Given the description of an element on the screen output the (x, y) to click on. 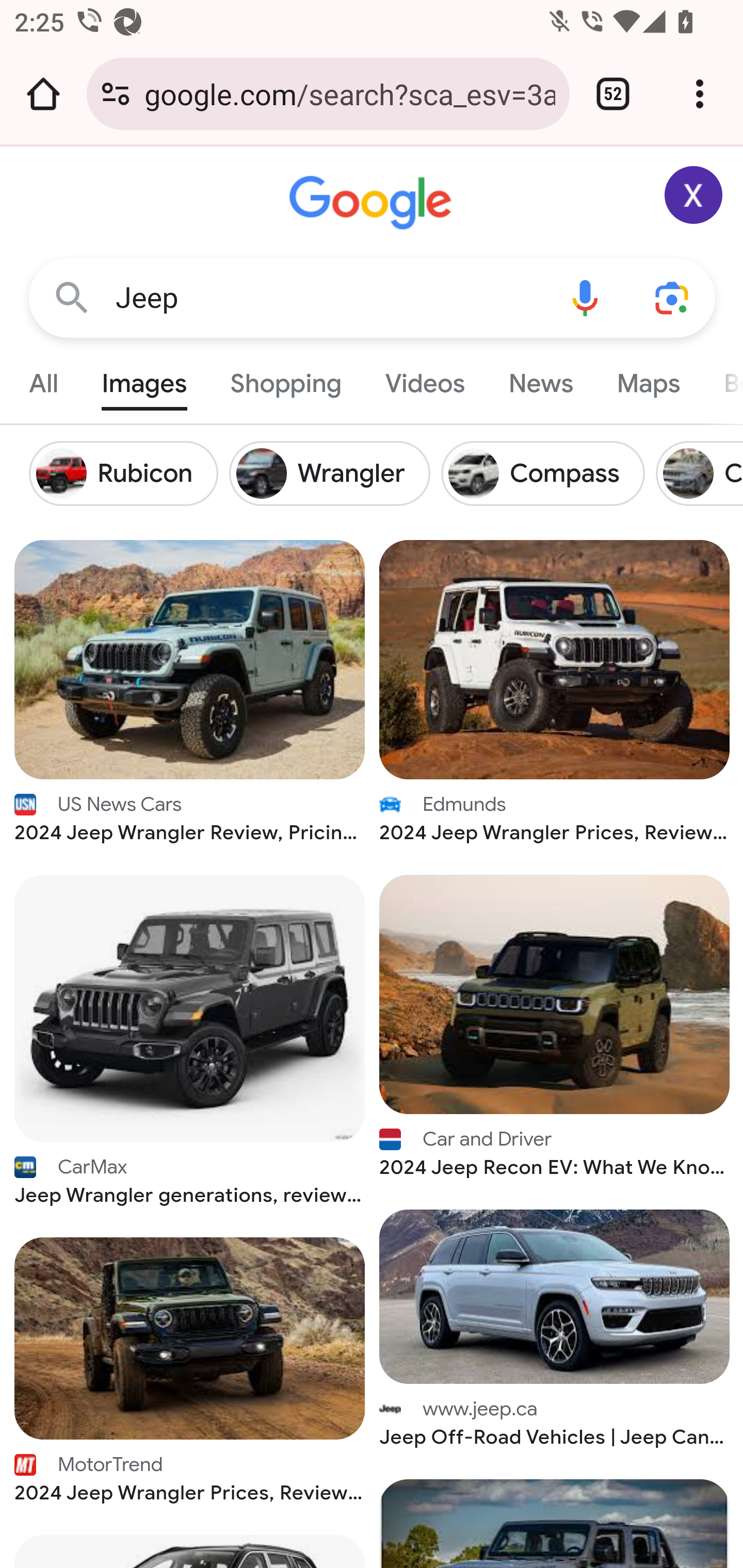
Open the home page (43, 93)
Connection is secure (115, 93)
Switch or close tabs (612, 93)
Customize and control Google Chrome (699, 93)
Google (372, 203)
Google Account: Xiaoran (zxrappiumtest@gmail.com) (694, 195)
Google Search (71, 296)
Search using your camera or photos (672, 296)
Jeep (328, 297)
All (43, 378)
Shopping (285, 378)
Videos (424, 378)
News (540, 378)
Maps (647, 378)
Add Rubicon Rubicon (128, 473)
Add Wrangler Wrangler (334, 473)
Add Compass Compass (548, 473)
2024 Jeep Recon EV: What We Know So Far (554, 994)
Jeep Off-Road Vehicles | Jeep Canada (554, 1295)
